Given the description of an element on the screen output the (x, y) to click on. 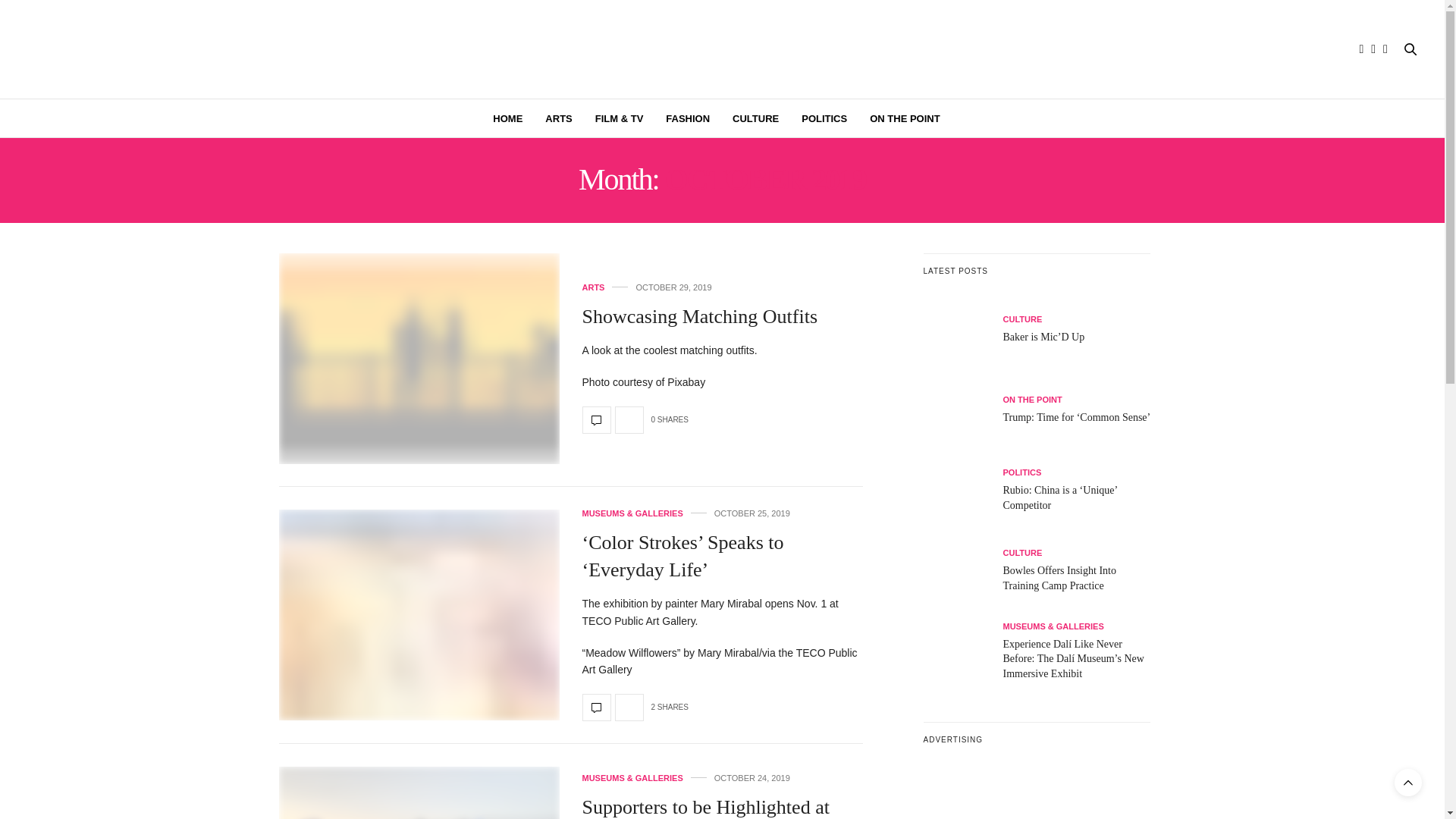
CULTURE (755, 118)
ARTS (593, 287)
ON THE POINT (904, 118)
Showcasing Matching Outfits (419, 358)
CULTURE (1022, 319)
Showcasing Matching Outfits (596, 420)
Alive Tampa Bay (721, 49)
Showcasing Matching Outfits (700, 316)
Showcasing Matching Outfits (700, 316)
POLITICS (824, 118)
